Given the description of an element on the screen output the (x, y) to click on. 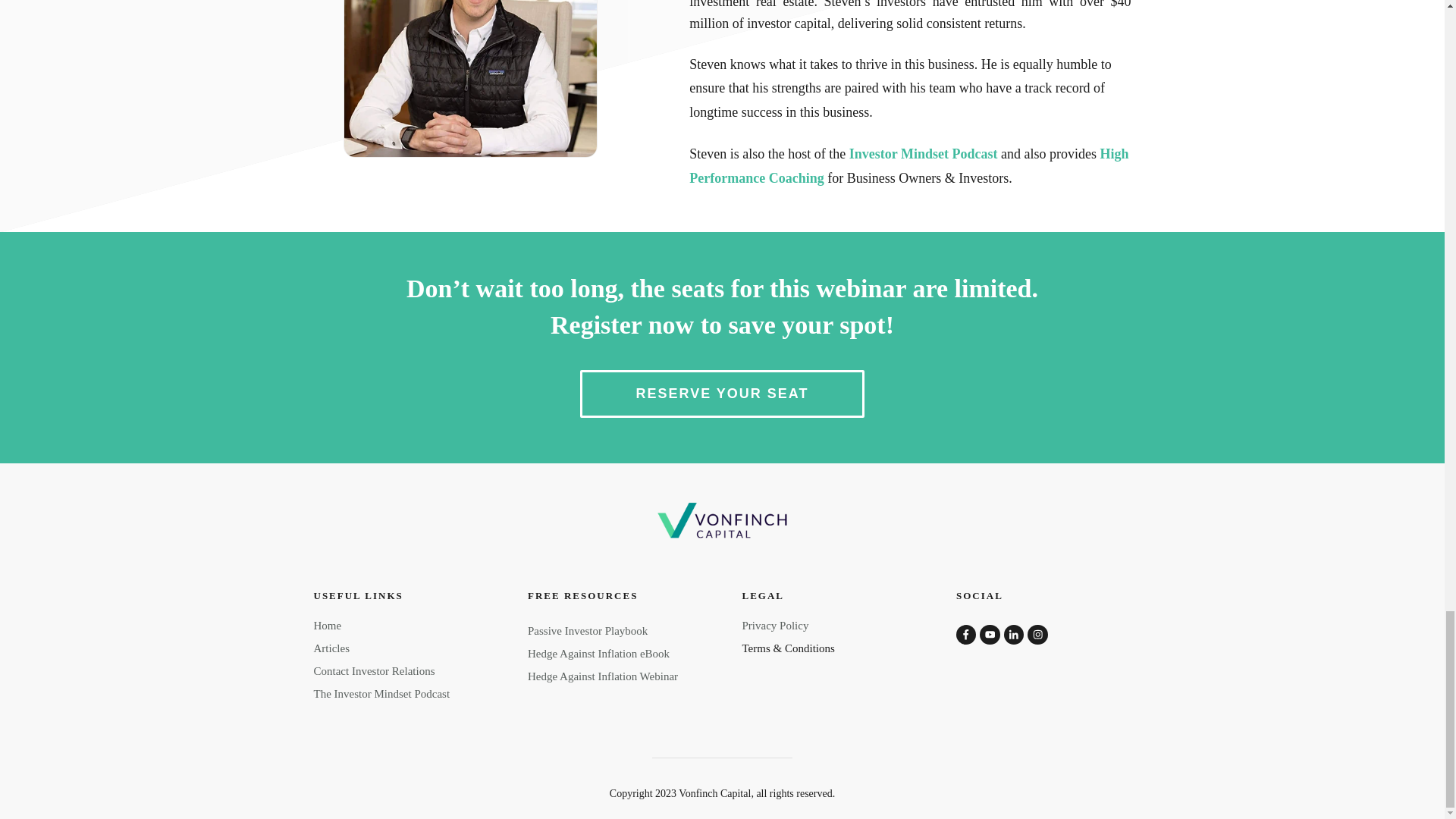
Steven (469, 78)
RESERVE YOUR SEAT (721, 394)
The Investor Mindset Podcast (381, 693)
Privacy Policy (774, 625)
Contact Investor Relations (374, 671)
Articles (331, 648)
Passive Investor Playbook (587, 630)
Hedge Against Inflation Webinar (602, 676)
Home (328, 625)
Hedge Against Inflation eBook (598, 653)
